Given the description of an element on the screen output the (x, y) to click on. 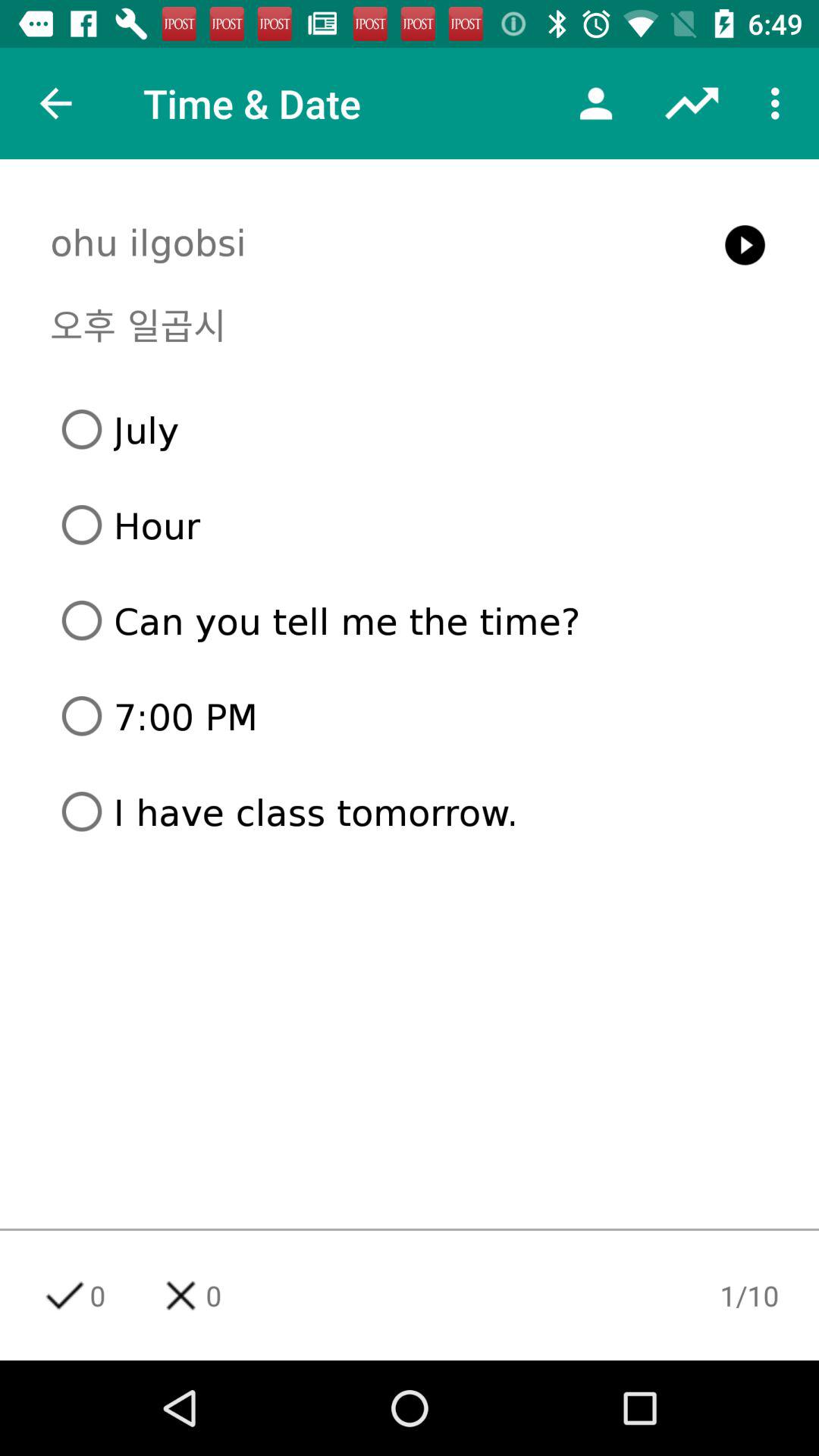
flip until the july (415, 429)
